Given the description of an element on the screen output the (x, y) to click on. 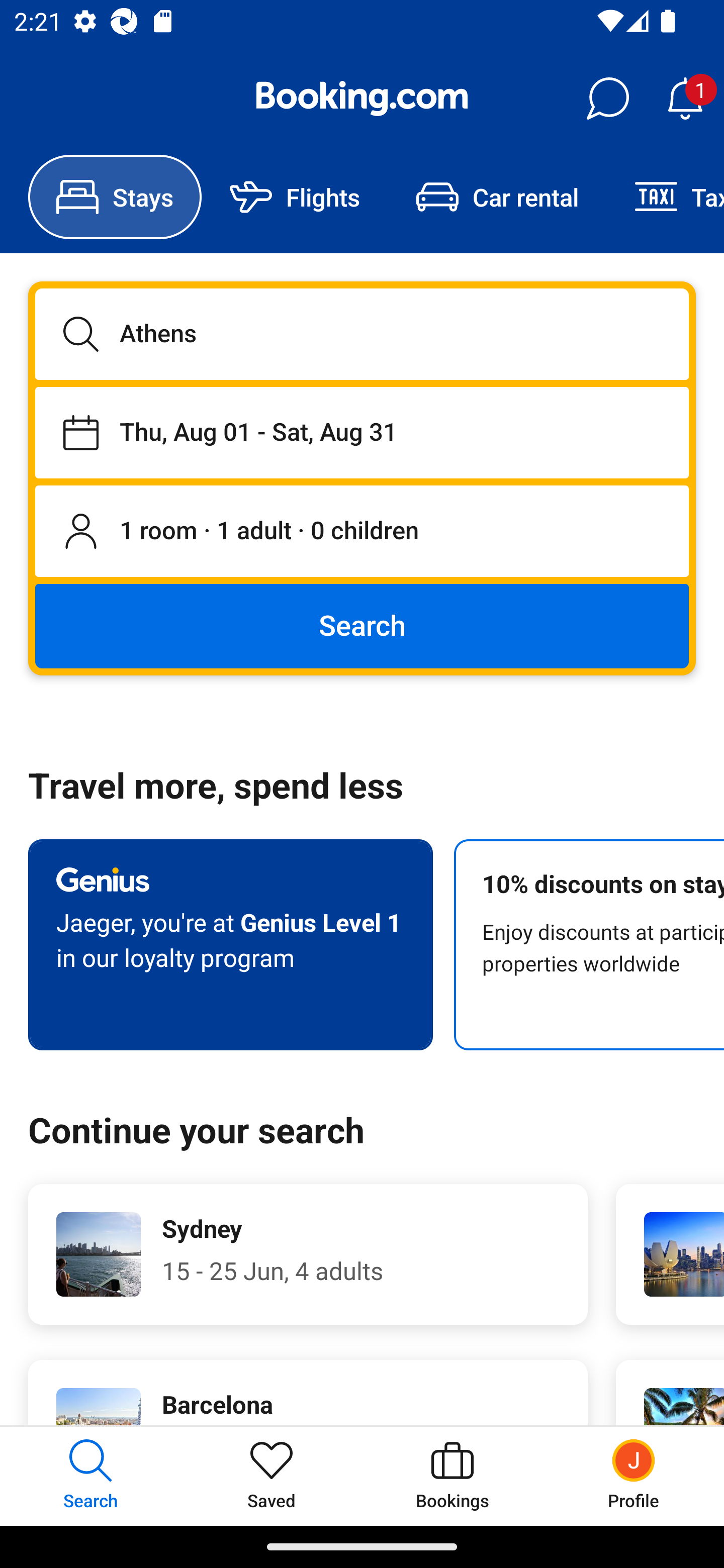
Messages (607, 98)
Notifications (685, 98)
Stays (114, 197)
Flights (294, 197)
Car rental (497, 197)
Taxi (665, 197)
Athens (361, 333)
Staying from Thu, Aug 01 until Sat, Aug 31 (361, 432)
1 room, 1 adult, 0 children (361, 531)
Search (361, 625)
Sydney 15 - 25 Jun, 4 adults (307, 1253)
Saved (271, 1475)
Bookings (452, 1475)
Profile (633, 1475)
